Given the description of an element on the screen output the (x, y) to click on. 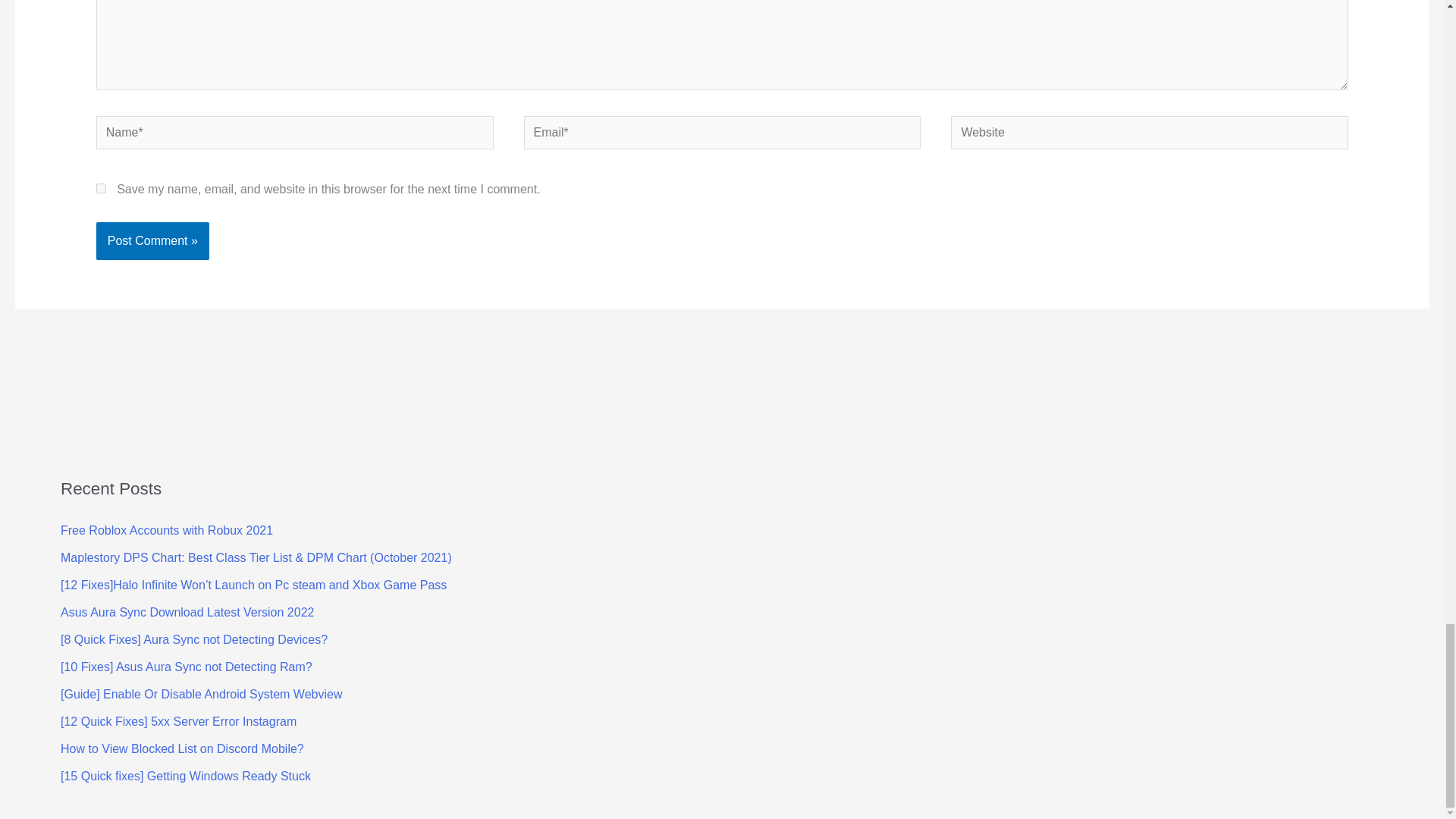
Asus Aura Sync Download Latest Version 2022 (187, 612)
yes (101, 188)
How to View Blocked List on Discord Mobile? (182, 748)
Free Roblox Accounts with Robux 2021 (167, 530)
